Given the description of an element on the screen output the (x, y) to click on. 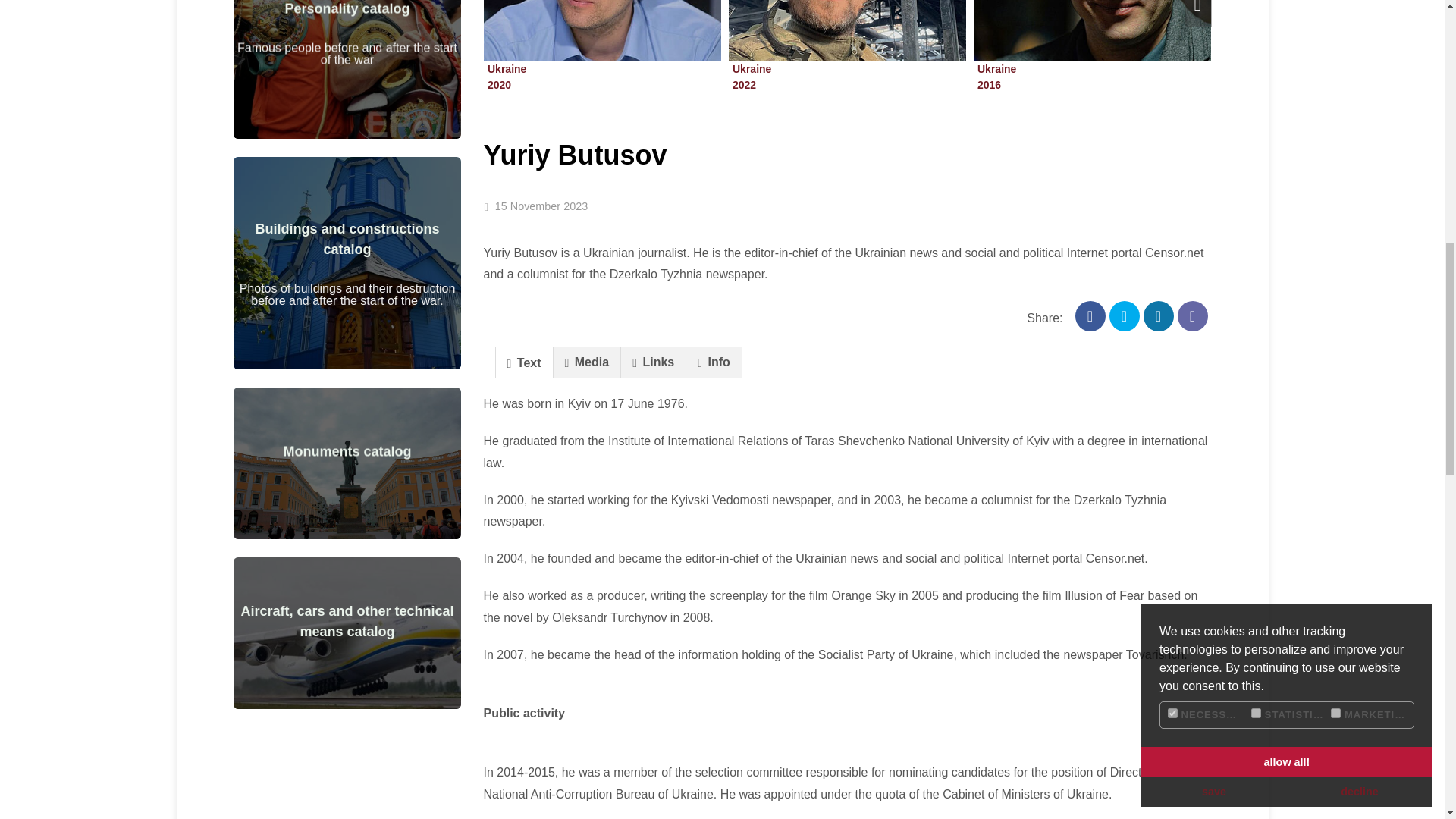
View Details (351, 18)
View Details (505, 76)
View Details (351, 448)
View Details (351, 618)
